Given the description of an element on the screen output the (x, y) to click on. 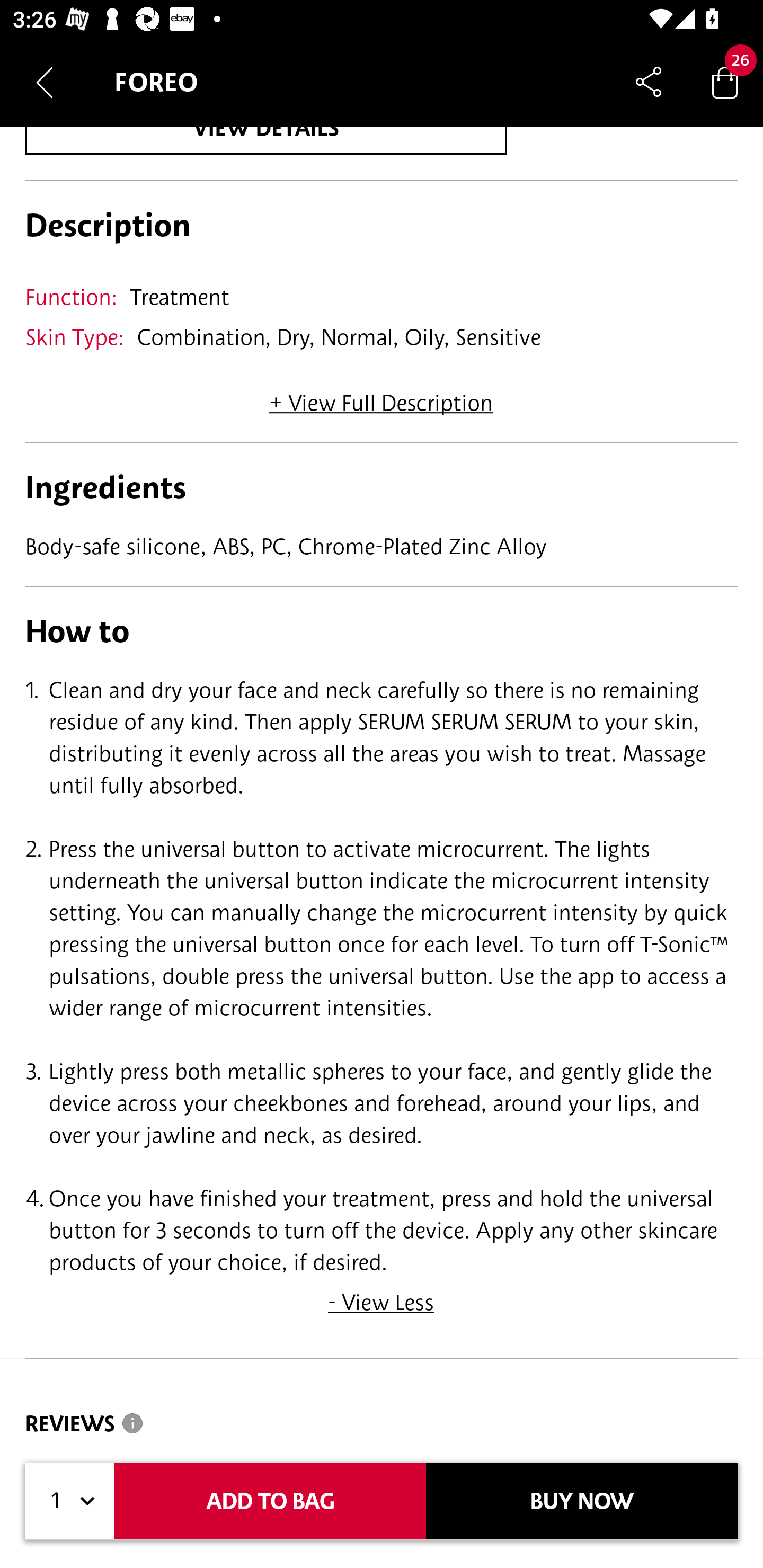
Navigate up (44, 82)
Share (648, 81)
Bag (724, 81)
+ View Full Description (380, 396)
- View Less (381, 1296)
1 (69, 1500)
ADD TO BAG (269, 1500)
BUY NOW (581, 1500)
